Given the description of an element on the screen output the (x, y) to click on. 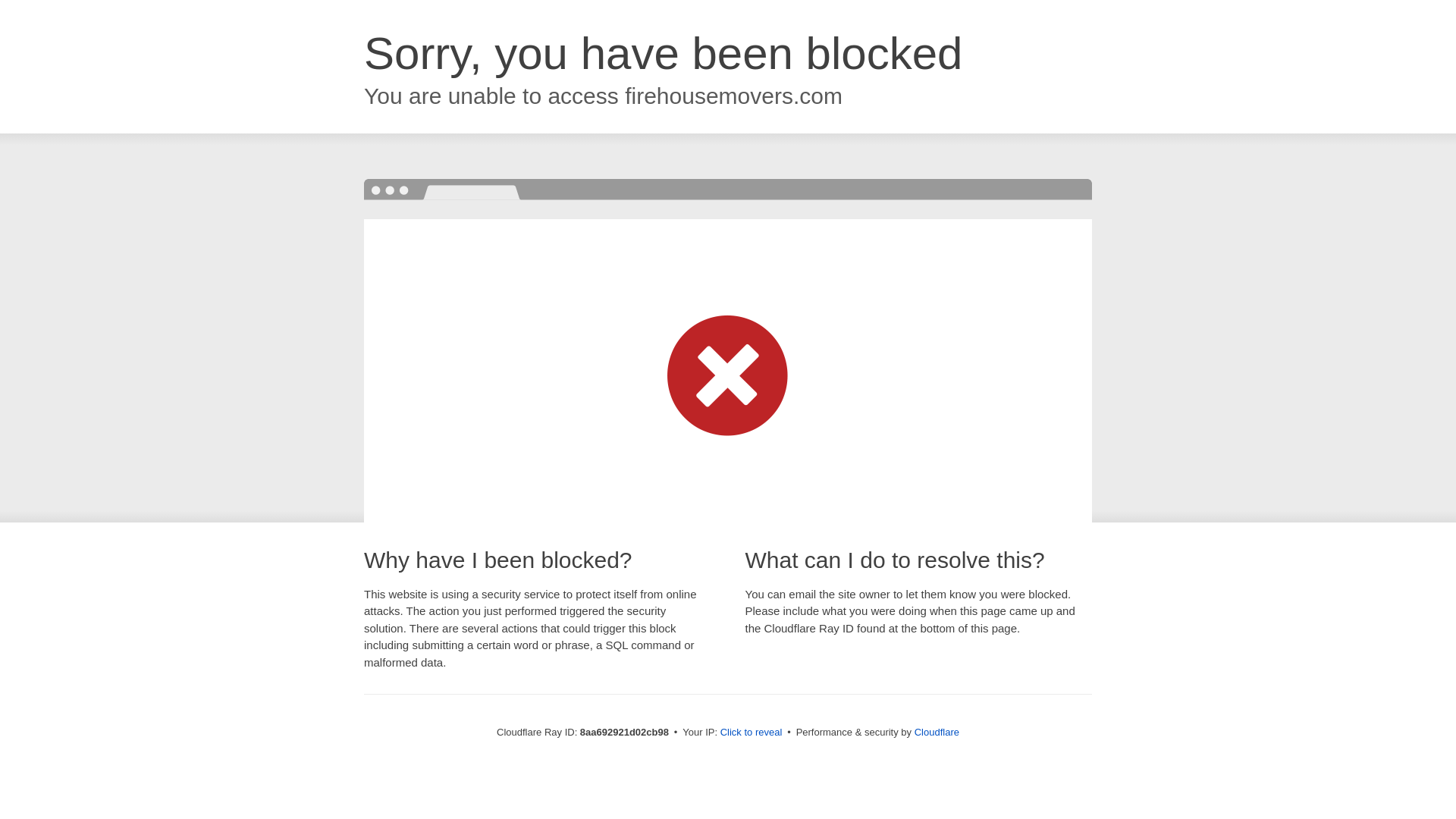
Click to reveal (751, 732)
Cloudflare (936, 731)
